Given the description of an element on the screen output the (x, y) to click on. 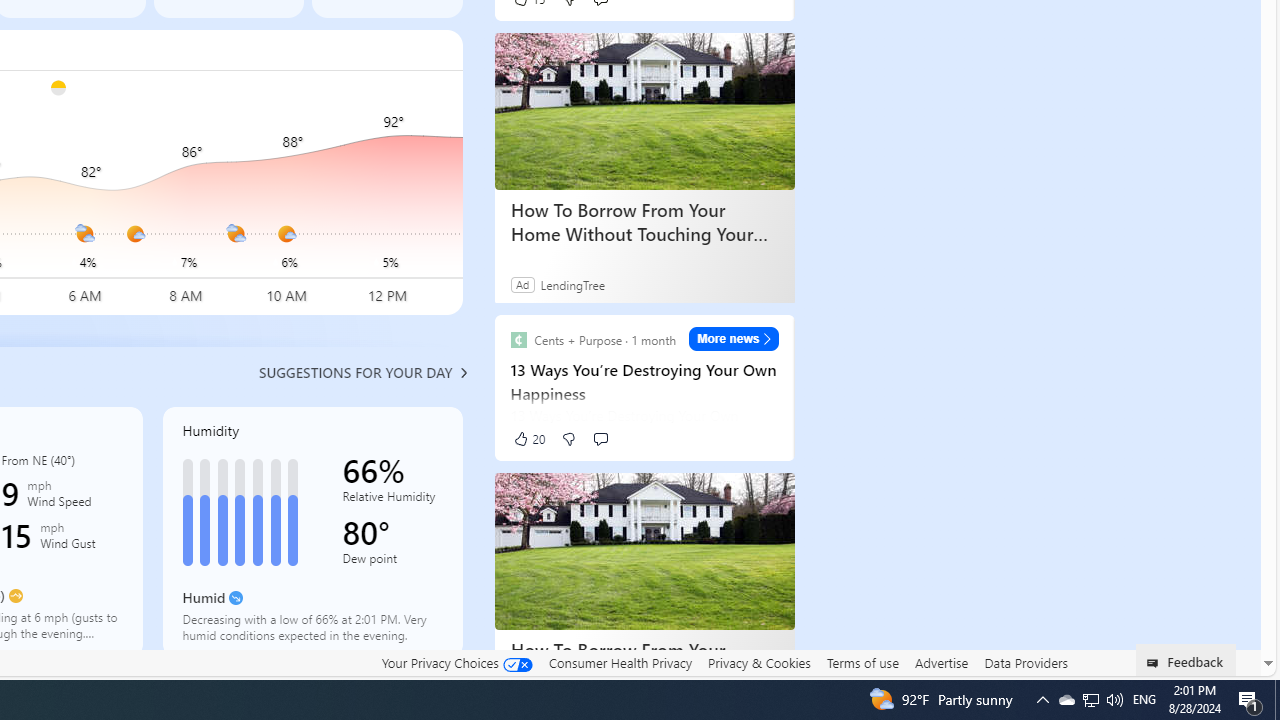
More news (733, 338)
Privacy & Cookies (759, 662)
Consumer Health Privacy (619, 663)
Class: feedback_link_icon-DS-EntryPoint1-1 (1156, 663)
Suggestions for your day (355, 372)
Relative Humidity (391, 500)
Terms of use (861, 662)
